Given the description of an element on the screen output the (x, y) to click on. 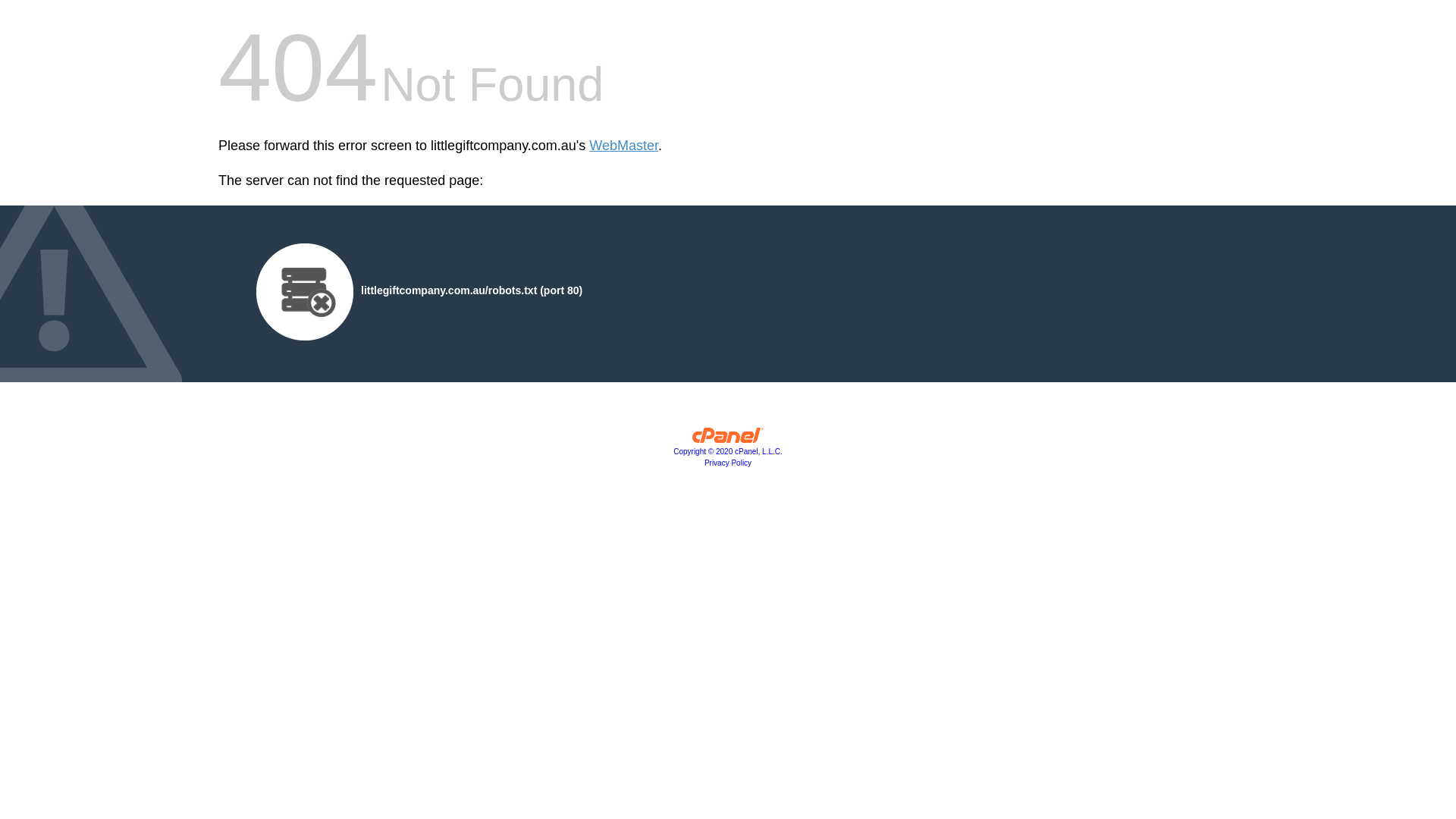
WebMaster Element type: text (623, 145)
Privacy Policy Element type: text (727, 462)
cPanel, Inc. Element type: hover (728, 439)
